Given the description of an element on the screen output the (x, y) to click on. 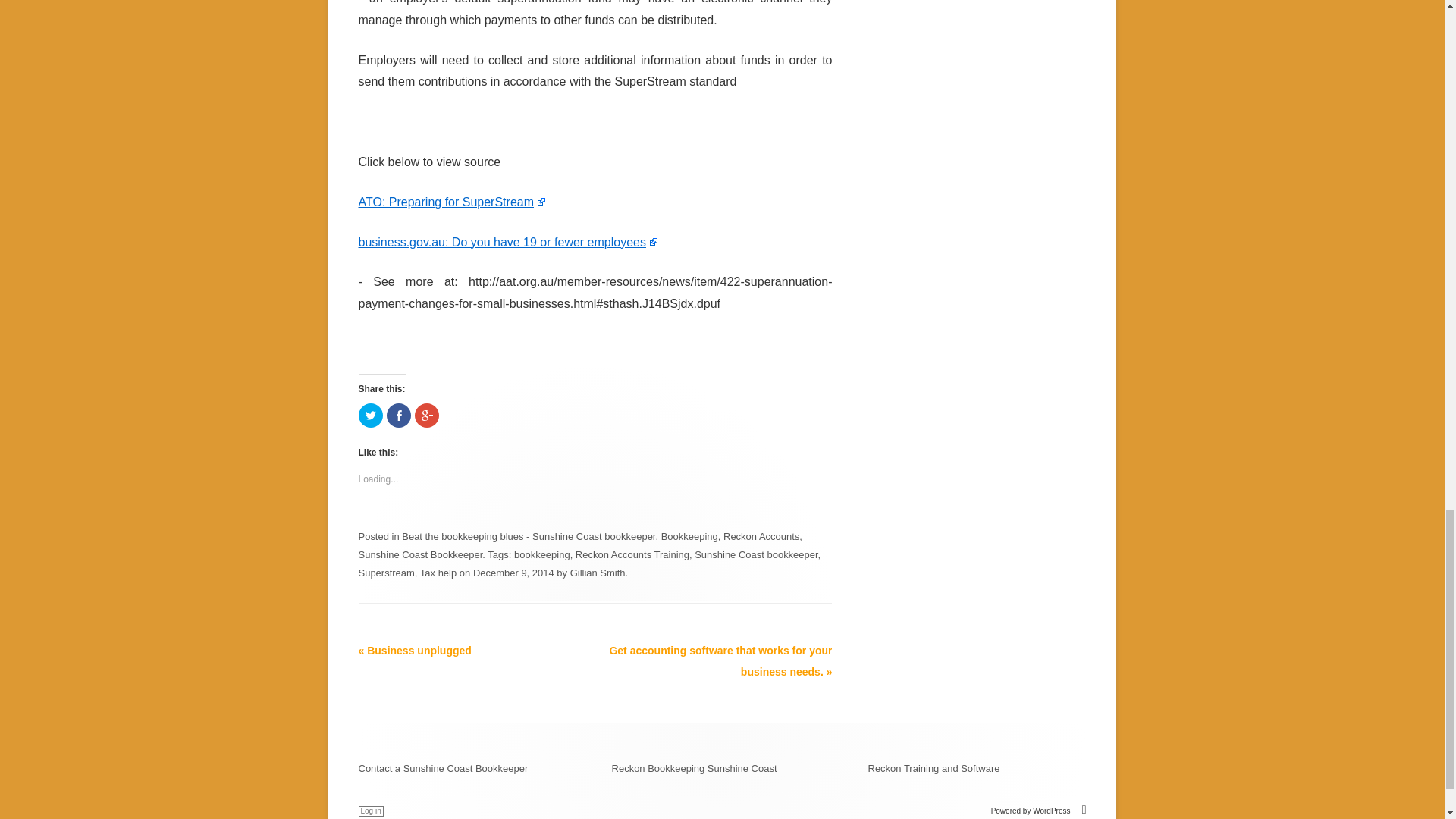
Share on Facebook (398, 415)
Semantic Personal Publishing Platform (1038, 810)
Bookkeeping (689, 536)
View all posts by Gillian Smith (598, 572)
December 9, 2014 (513, 572)
Reckon Accounts Training (631, 554)
Tax help (438, 572)
11:45 pm (513, 572)
ATO: Preparing for SuperStream (452, 201)
Sunshine Coast Bookkeeper (419, 554)
